Given the description of an element on the screen output the (x, y) to click on. 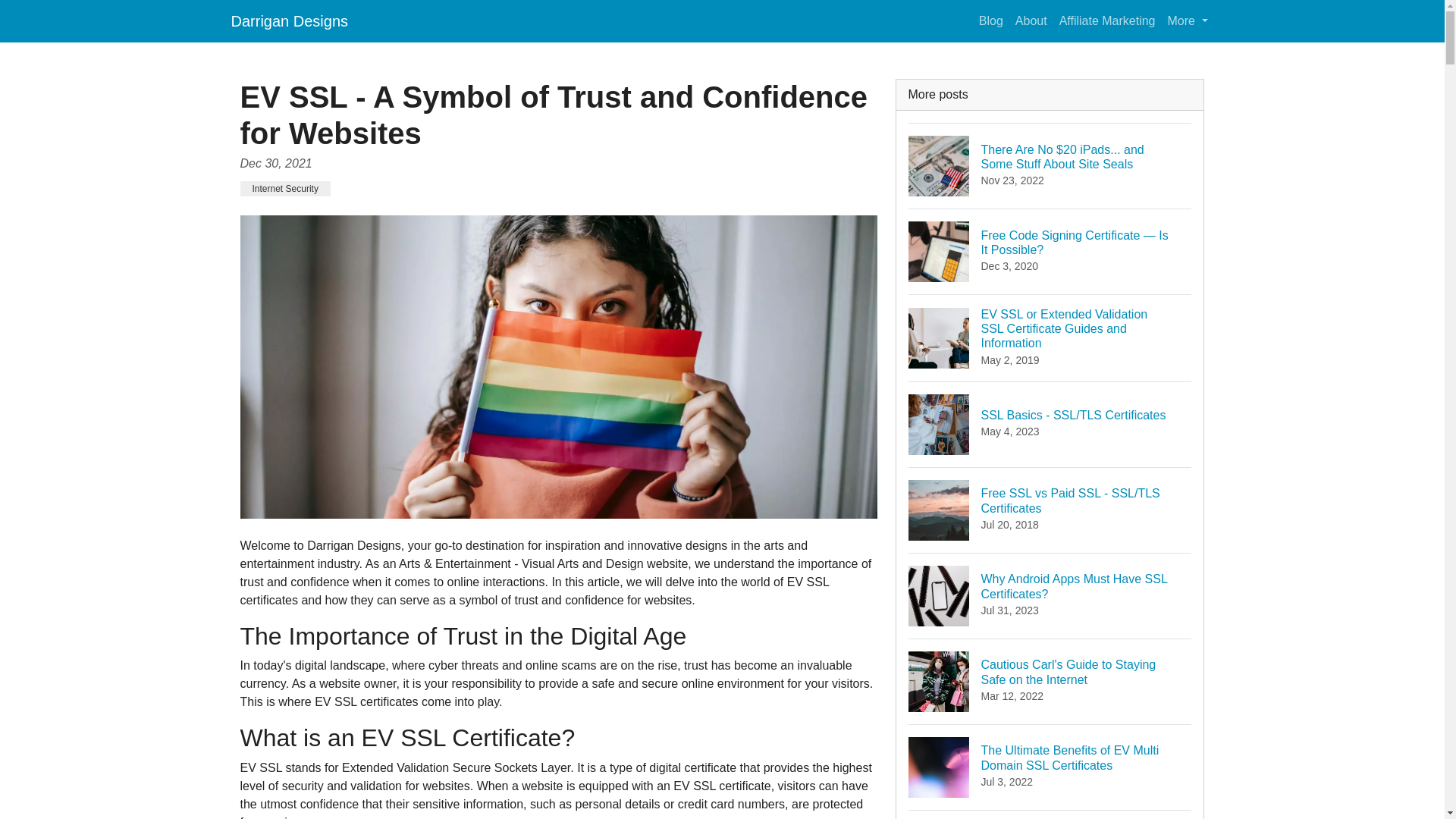
Internet Security (285, 188)
Affiliate Marketing (1106, 20)
Blog (990, 20)
More (1050, 595)
Darrigan Designs (1187, 20)
About (288, 20)
